Given the description of an element on the screen output the (x, y) to click on. 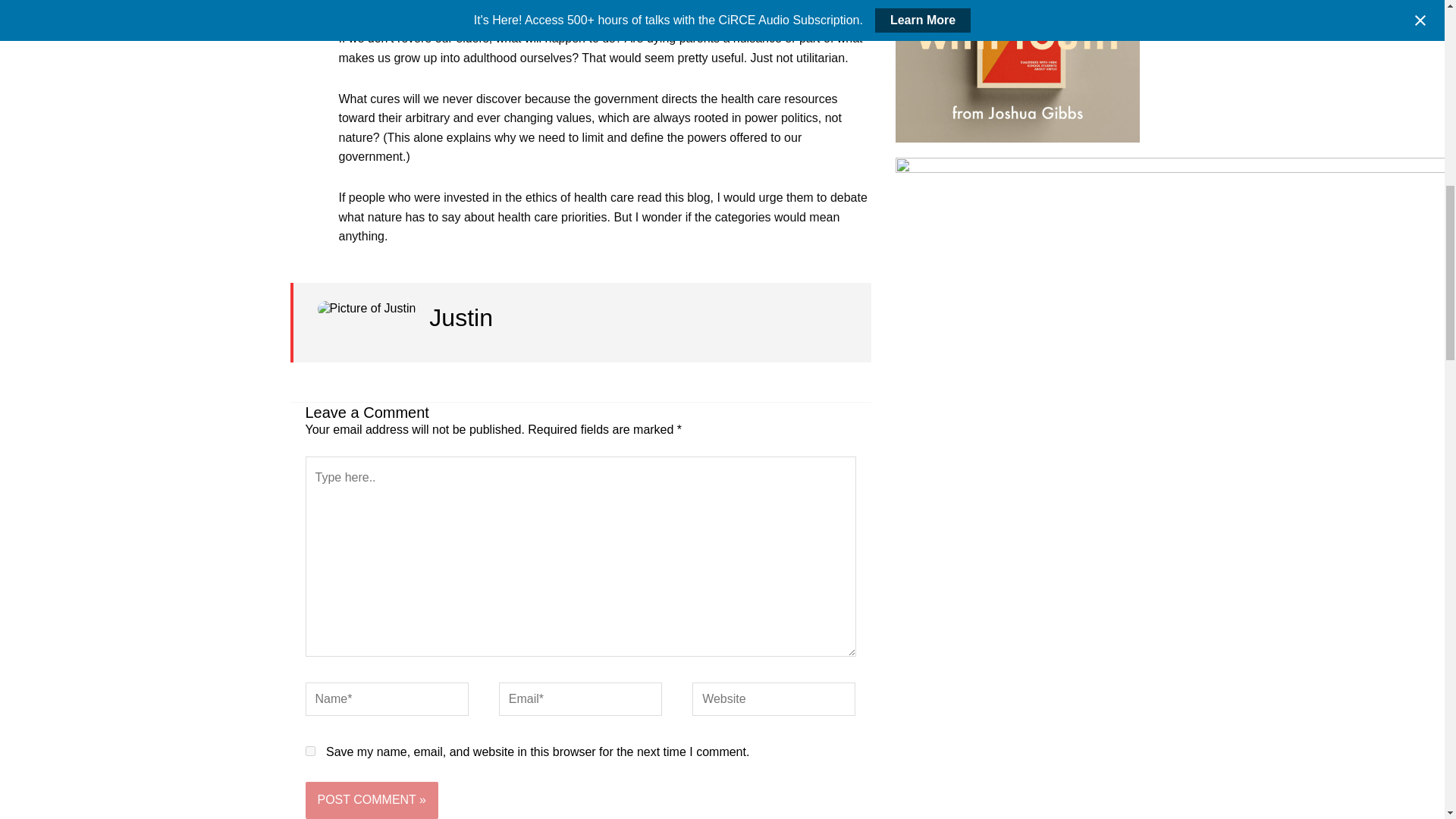
yes (309, 750)
